Given the description of an element on the screen output the (x, y) to click on. 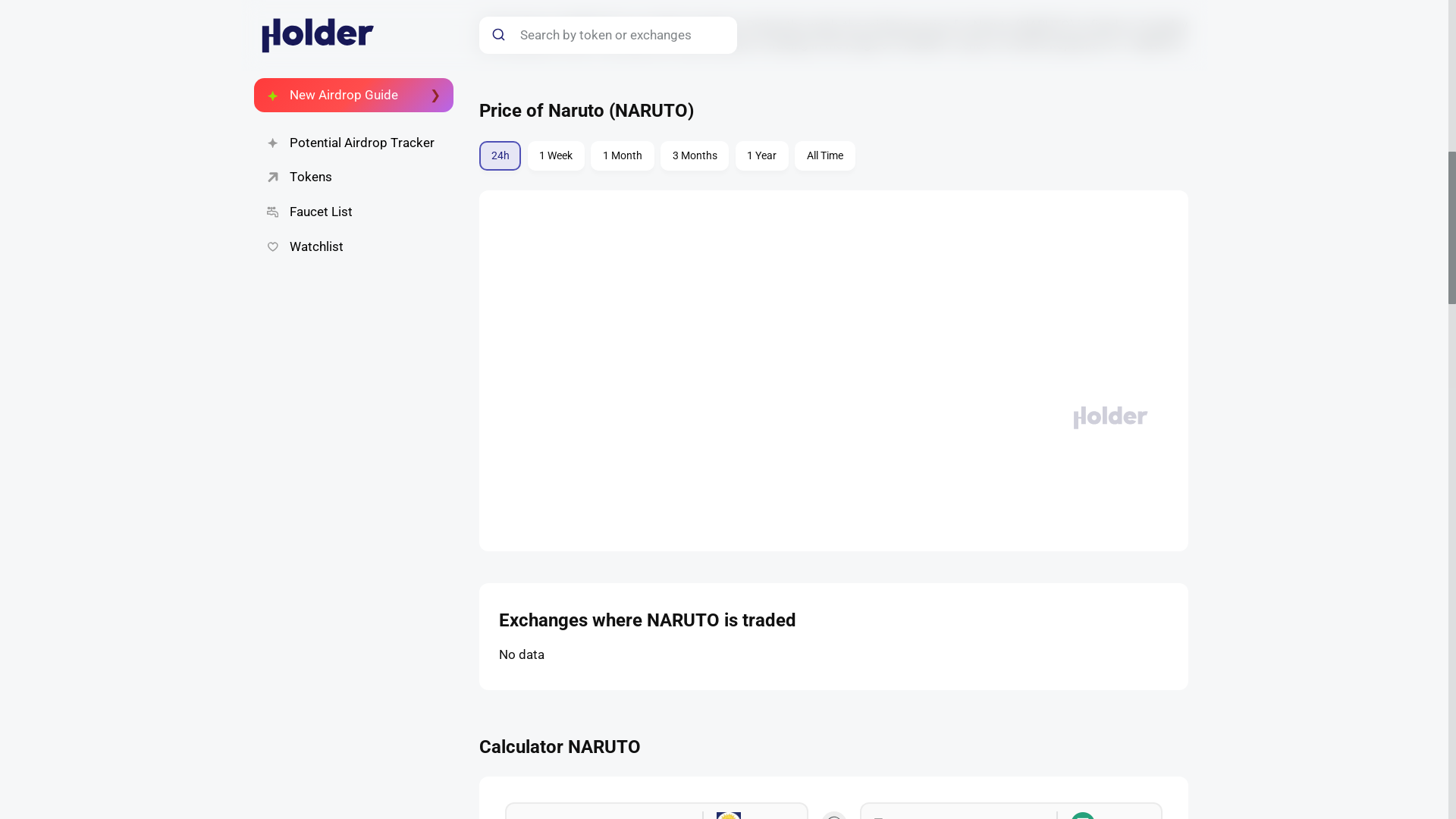
24h (500, 155)
1 Month (622, 155)
1 Week (556, 155)
3 Months (695, 155)
All Time (824, 155)
1 Year (762, 155)
